Given the description of an element on the screen output the (x, y) to click on. 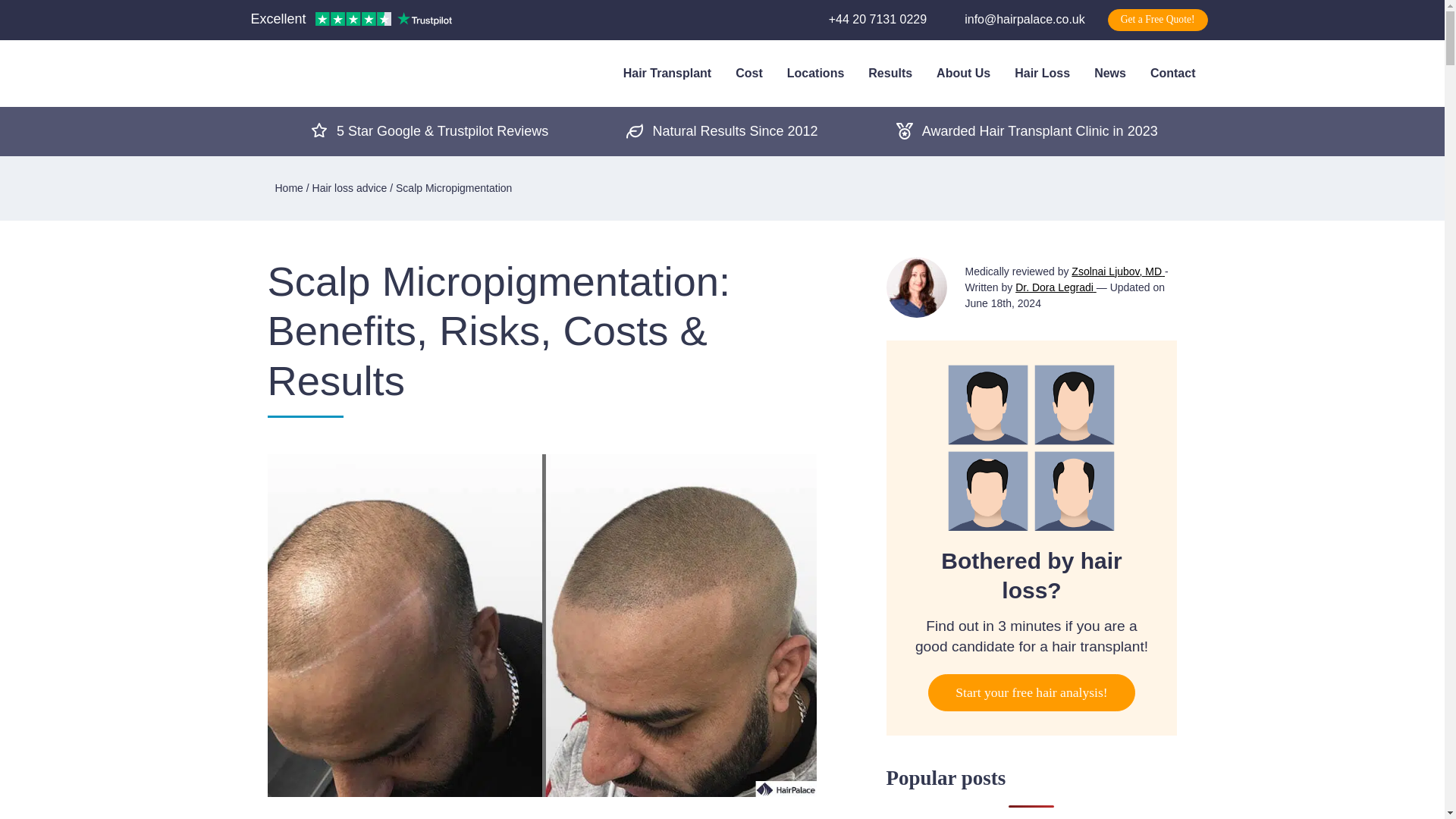
Results (890, 73)
Customer reviews powered by Trustpilot (349, 20)
HairPalace (303, 71)
Get a Free Quote! (1158, 20)
Hair Loss (1042, 73)
Locations (815, 73)
About Us (963, 73)
Hair Transplant (667, 73)
